Given the description of an element on the screen output the (x, y) to click on. 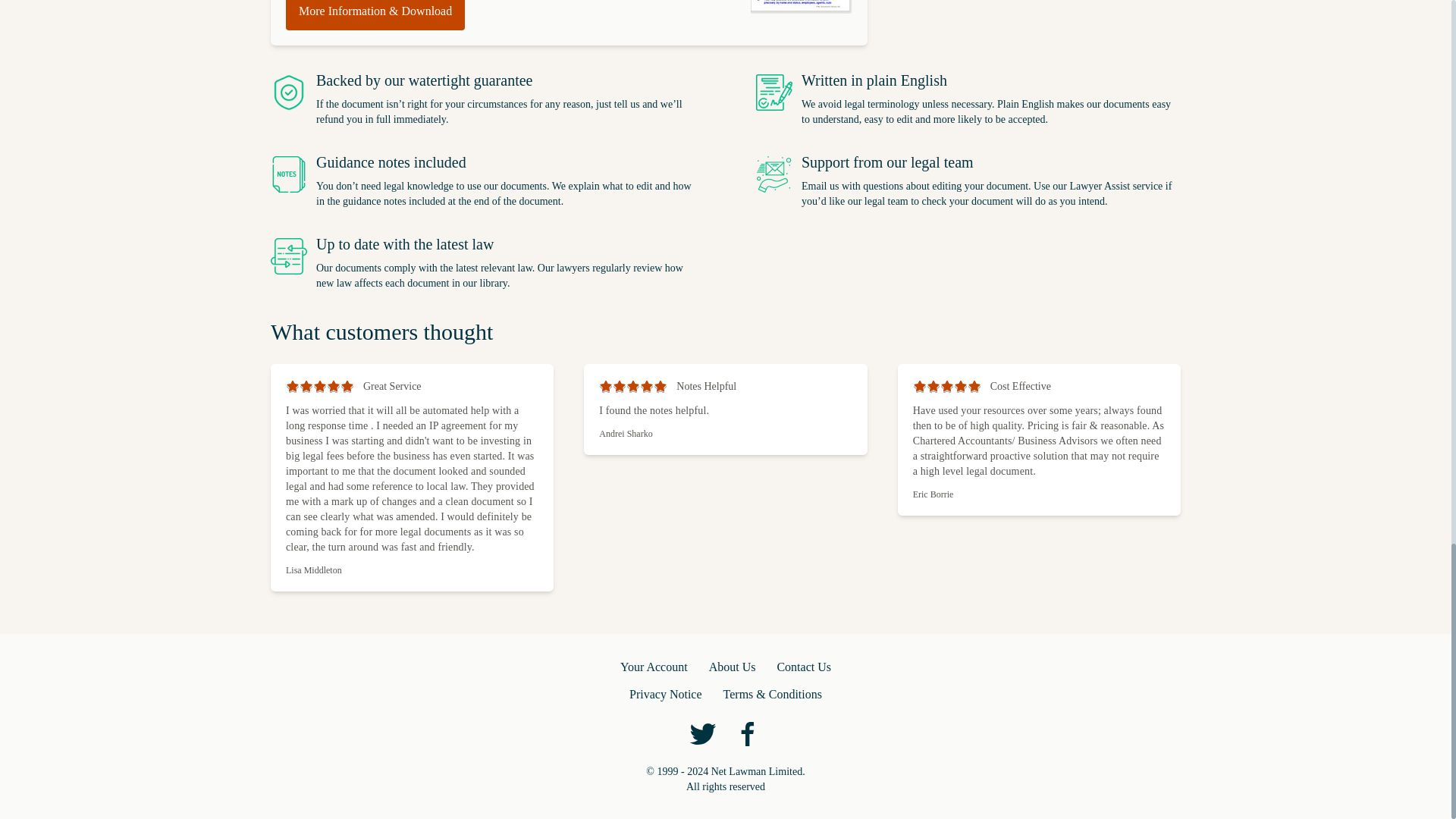
Privacy Notice (664, 694)
About Us (732, 667)
Contact Us (803, 667)
Your Account (653, 667)
